Given the description of an element on the screen output the (x, y) to click on. 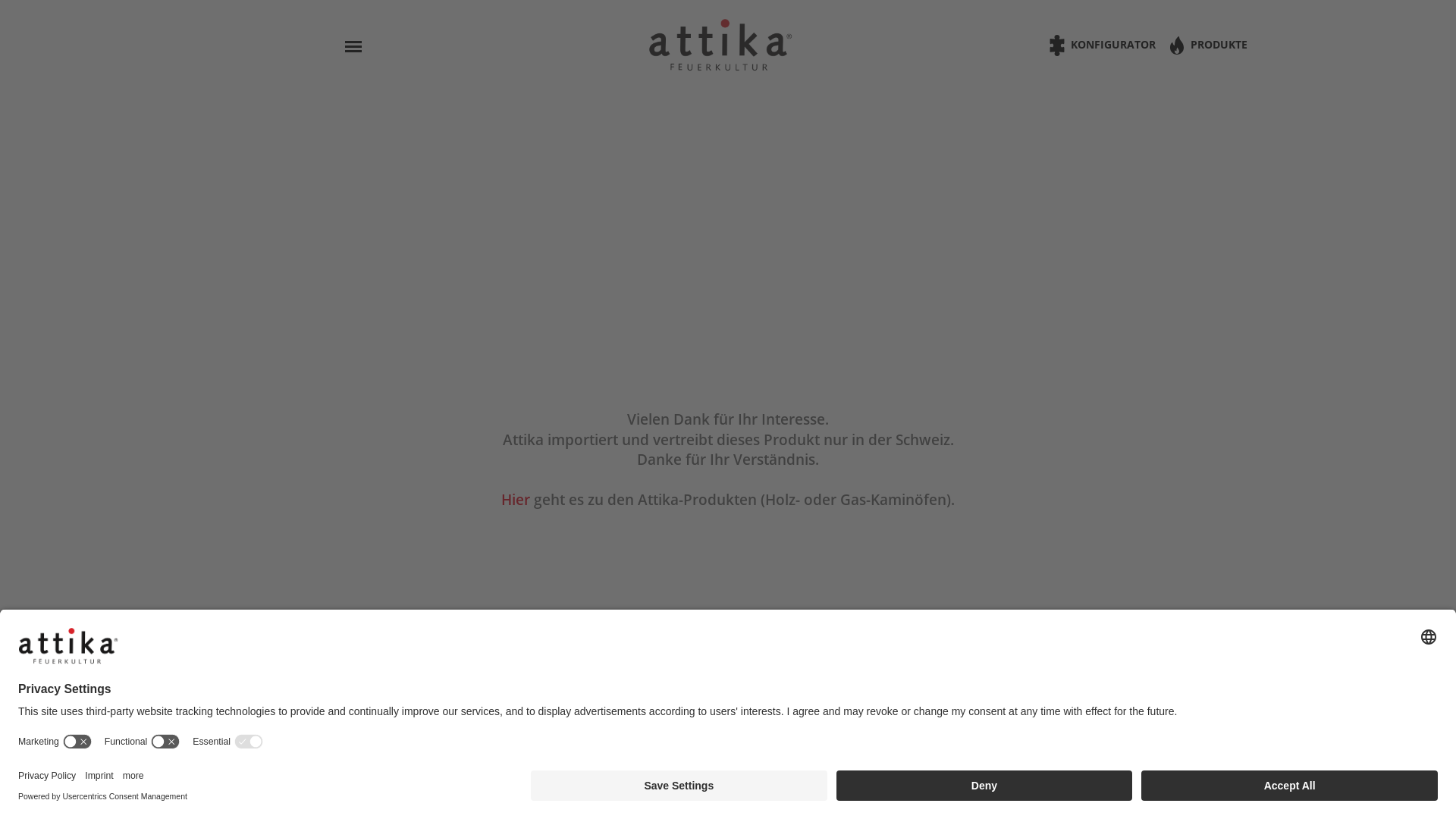
KONFIGURATOR Element type: text (1104, 45)
Attika Element type: hover (720, 44)
PRODUKTE Element type: text (1206, 45)
Hier Element type: text (515, 499)
